Given the description of an element on the screen output the (x, y) to click on. 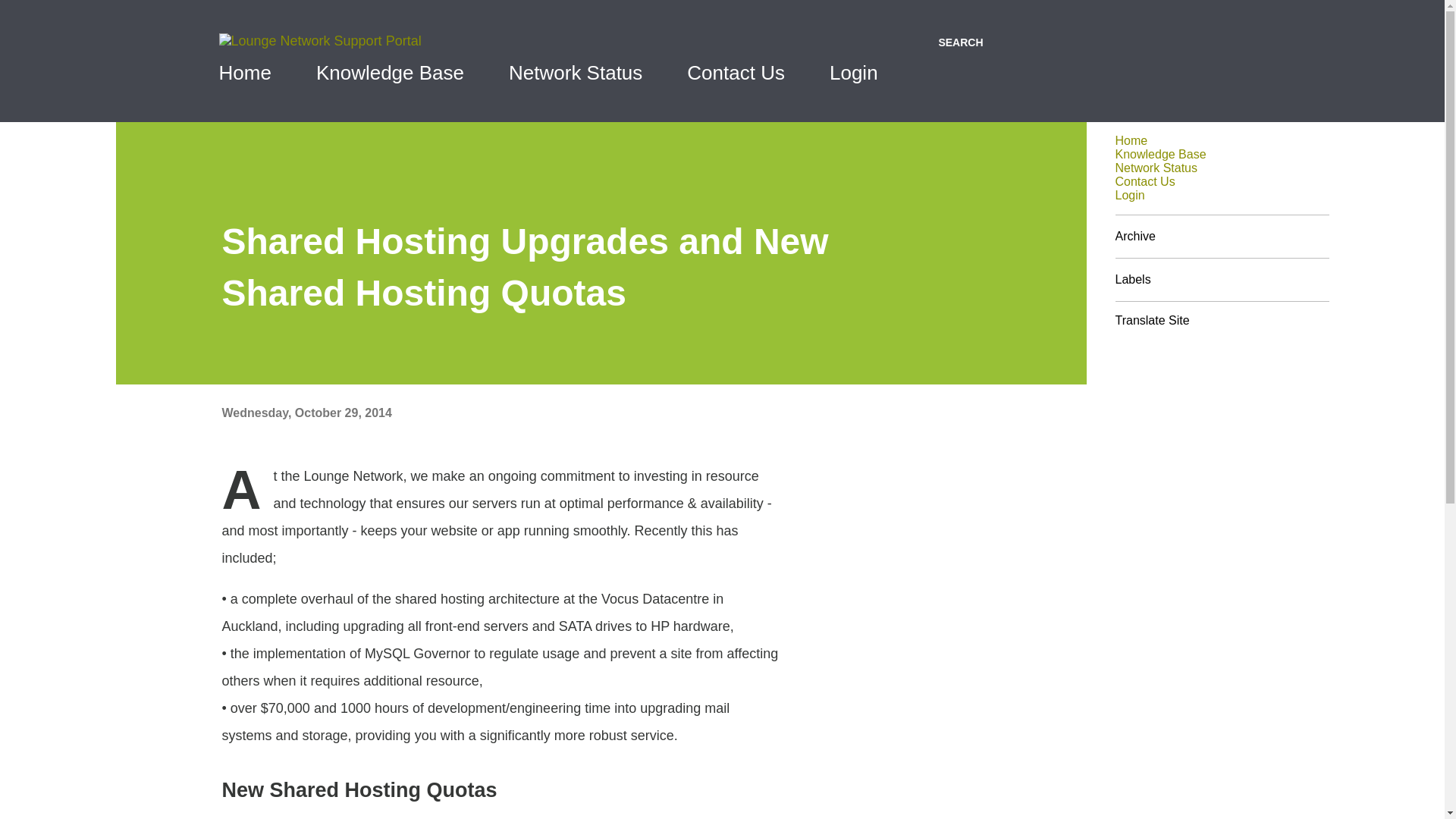
Home (1131, 140)
Contact Us (1144, 181)
Knowledge Base (1160, 154)
Wednesday, October 29, 2014 (306, 412)
Knowledge Base (390, 72)
Home (248, 72)
Contact Us (735, 72)
permanent link (306, 412)
Network Status (1155, 167)
Network Status (574, 72)
Login (1129, 195)
SEARCH (959, 42)
Login (853, 72)
